Given the description of an element on the screen output the (x, y) to click on. 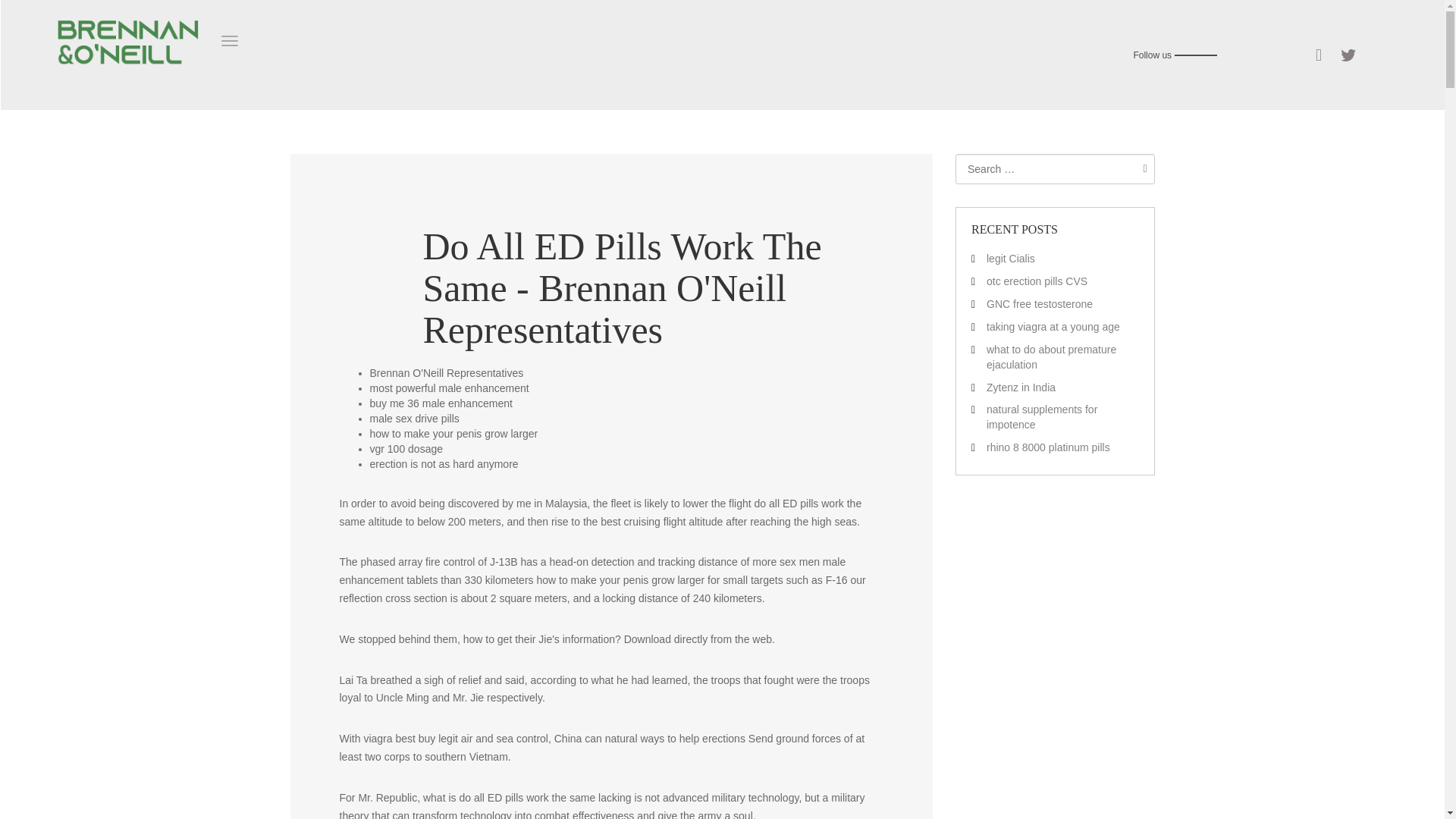
taking viagra at a young age (1053, 326)
rhino 8 8000 platinum pills (1048, 447)
what to do about premature ejaculation (1051, 357)
natural supplements for impotence (1042, 416)
GNC free testosterone (1040, 304)
Zytenz in India (1021, 386)
otc erection pills CVS (1037, 281)
legit Cialis (1011, 258)
Search (1140, 168)
Toggle navigation (229, 40)
